Given the description of an element on the screen output the (x, y) to click on. 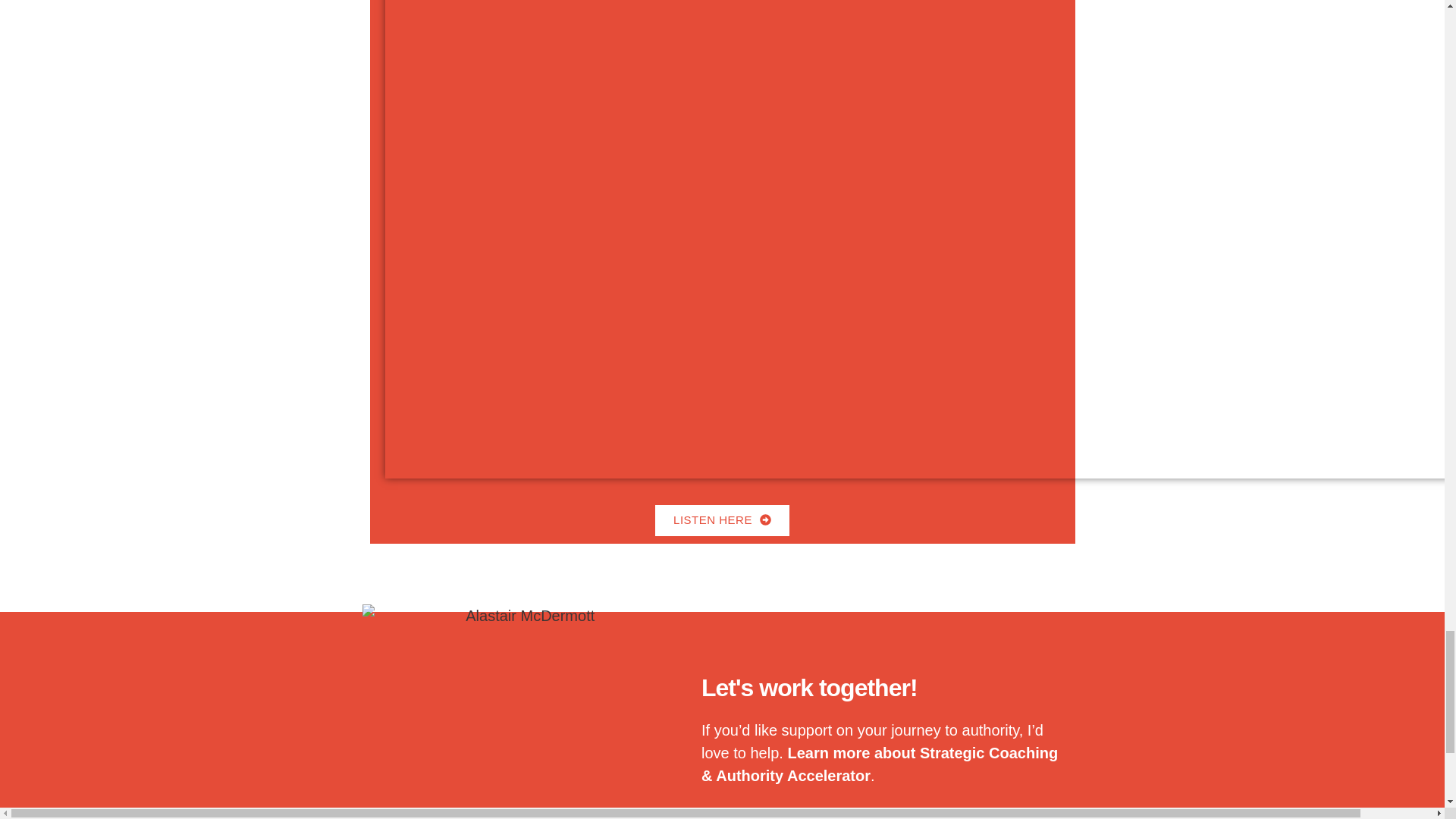
LISTEN HERE (722, 520)
Strategic Coaching (989, 752)
Authority Accelerator (793, 775)
